Given the description of an element on the screen output the (x, y) to click on. 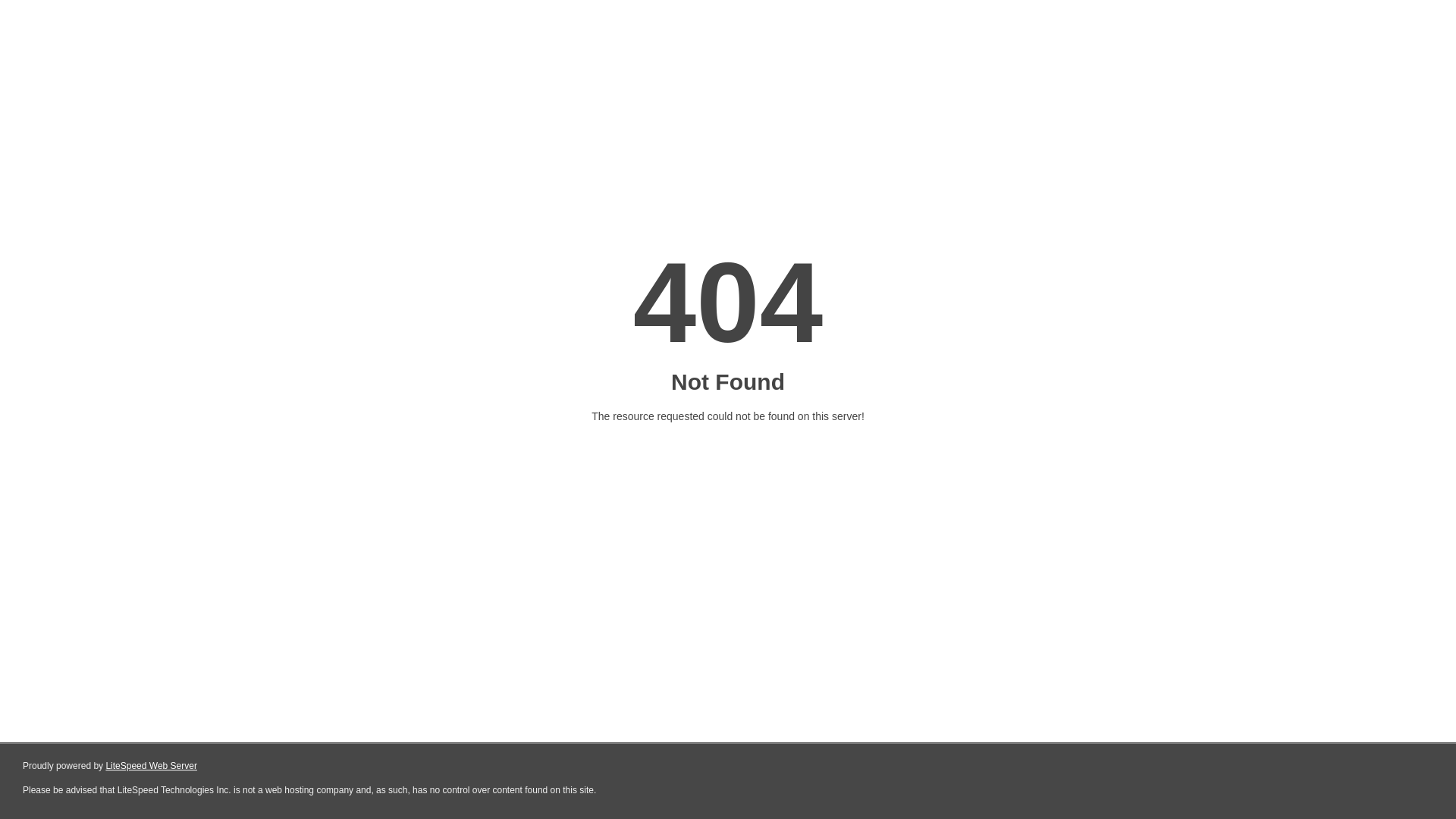
LiteSpeed Web Server Element type: text (151, 765)
